Given the description of an element on the screen output the (x, y) to click on. 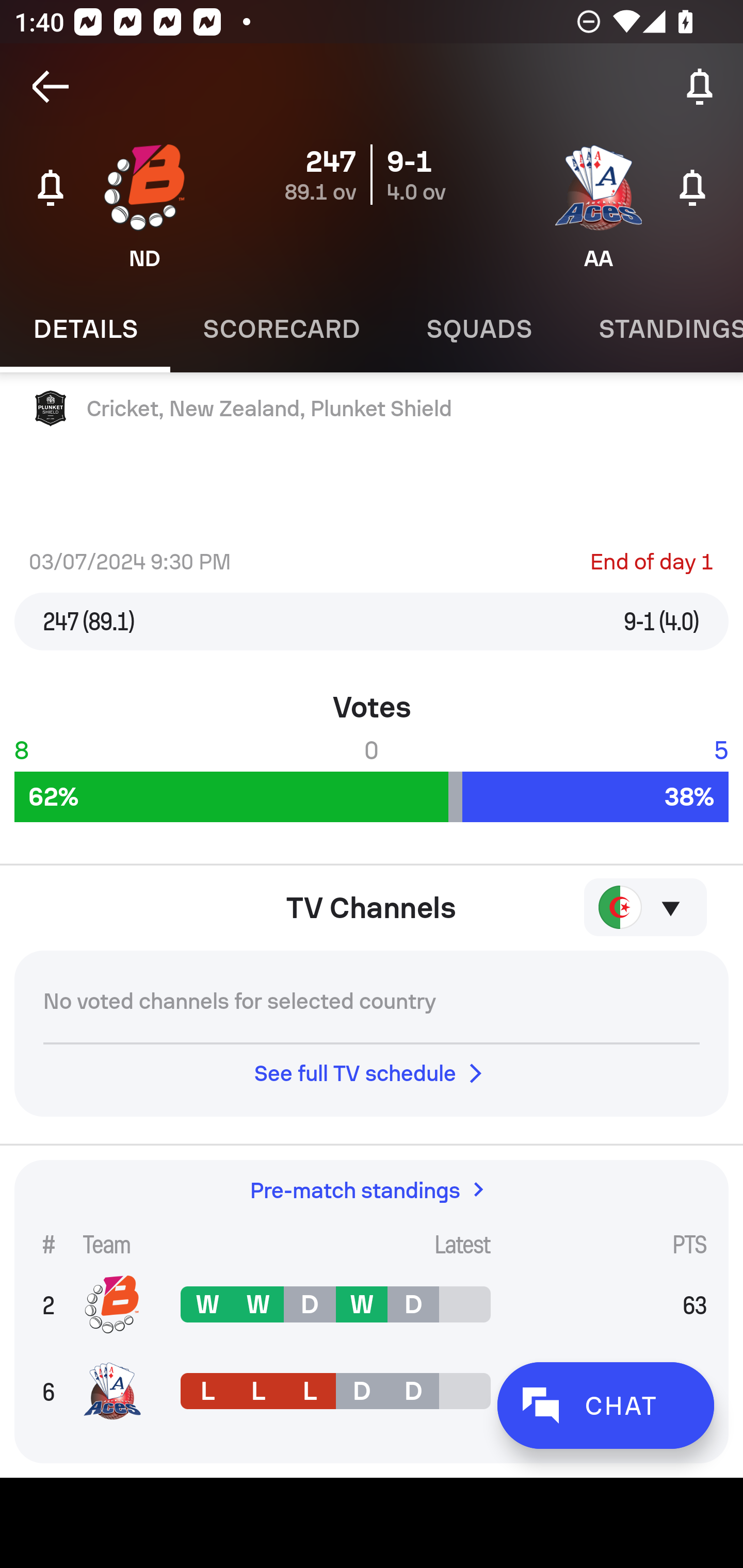
Navigate up (50, 86)
Scorecard SCORECARD (281, 329)
Squads SQUADS (479, 329)
Standings STANDINGS (654, 329)
Cricket, New Zealand, Plunket Shield (371, 409)
See full TV schedule (371, 1073)
CHAT (605, 1405)
